Given the description of an element on the screen output the (x, y) to click on. 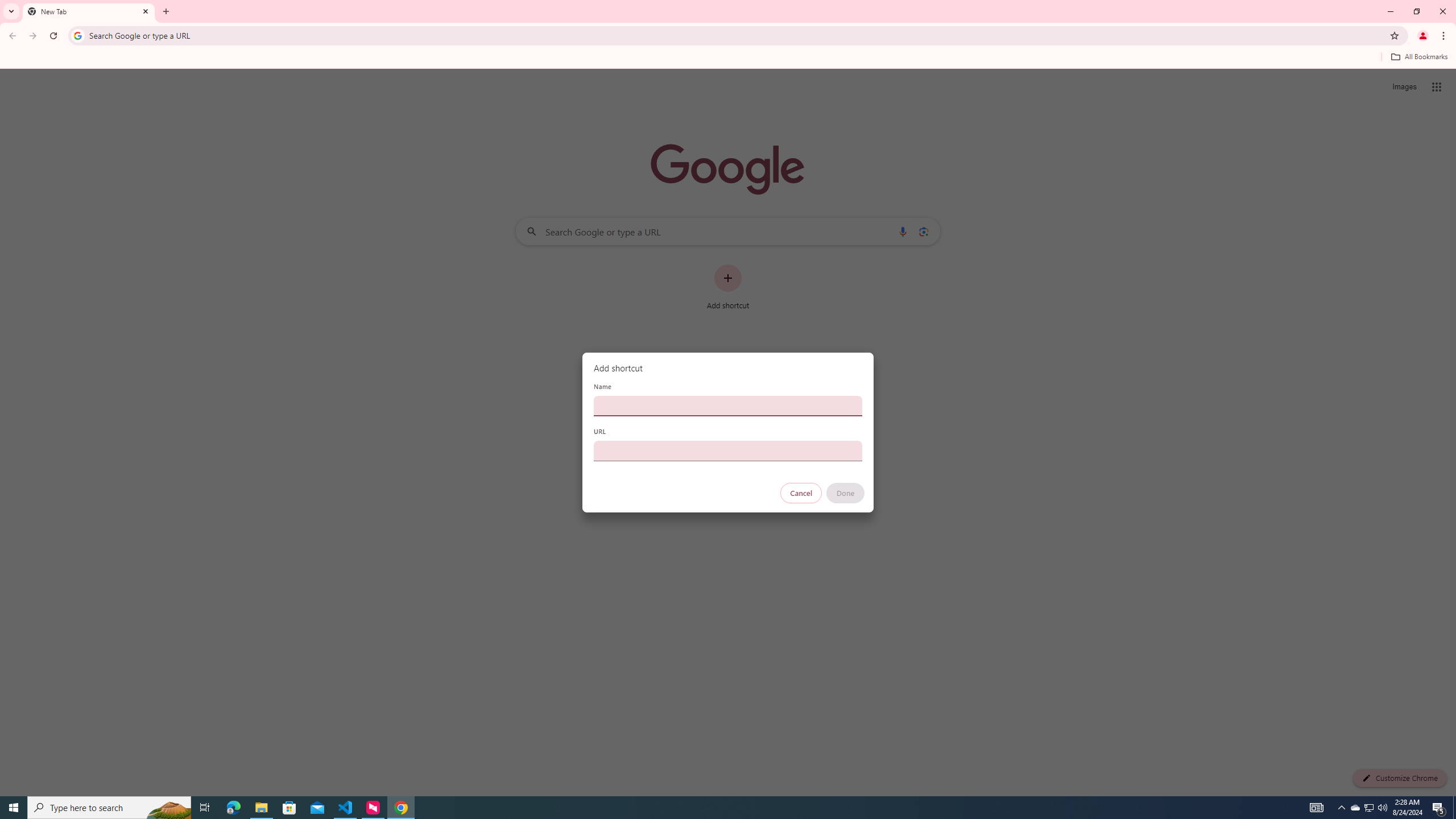
Name (727, 405)
Done (845, 493)
Cancel (801, 493)
